Given the description of an element on the screen output the (x, y) to click on. 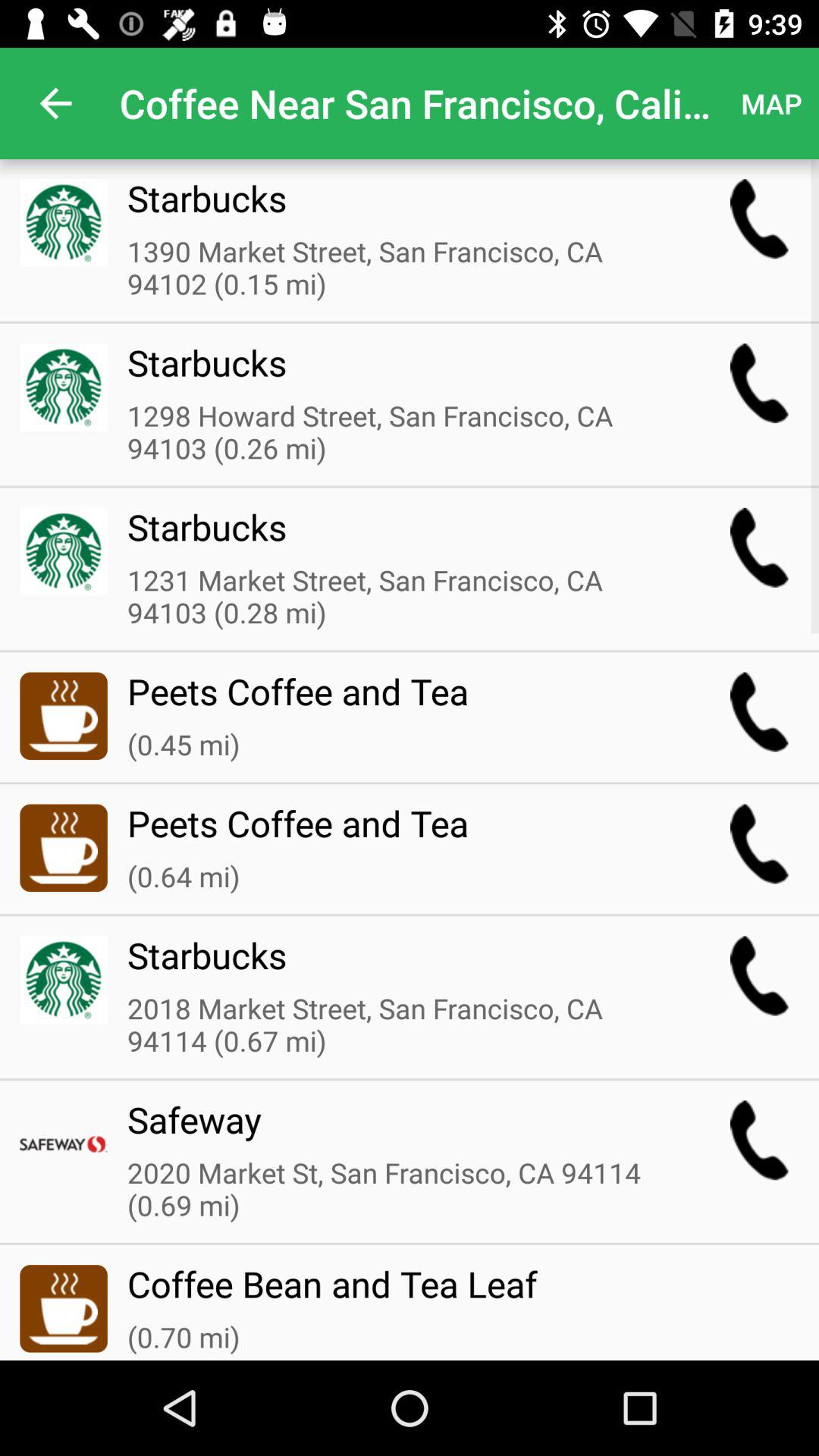
choose the 1298 howard street icon (398, 432)
